Given the description of an element on the screen output the (x, y) to click on. 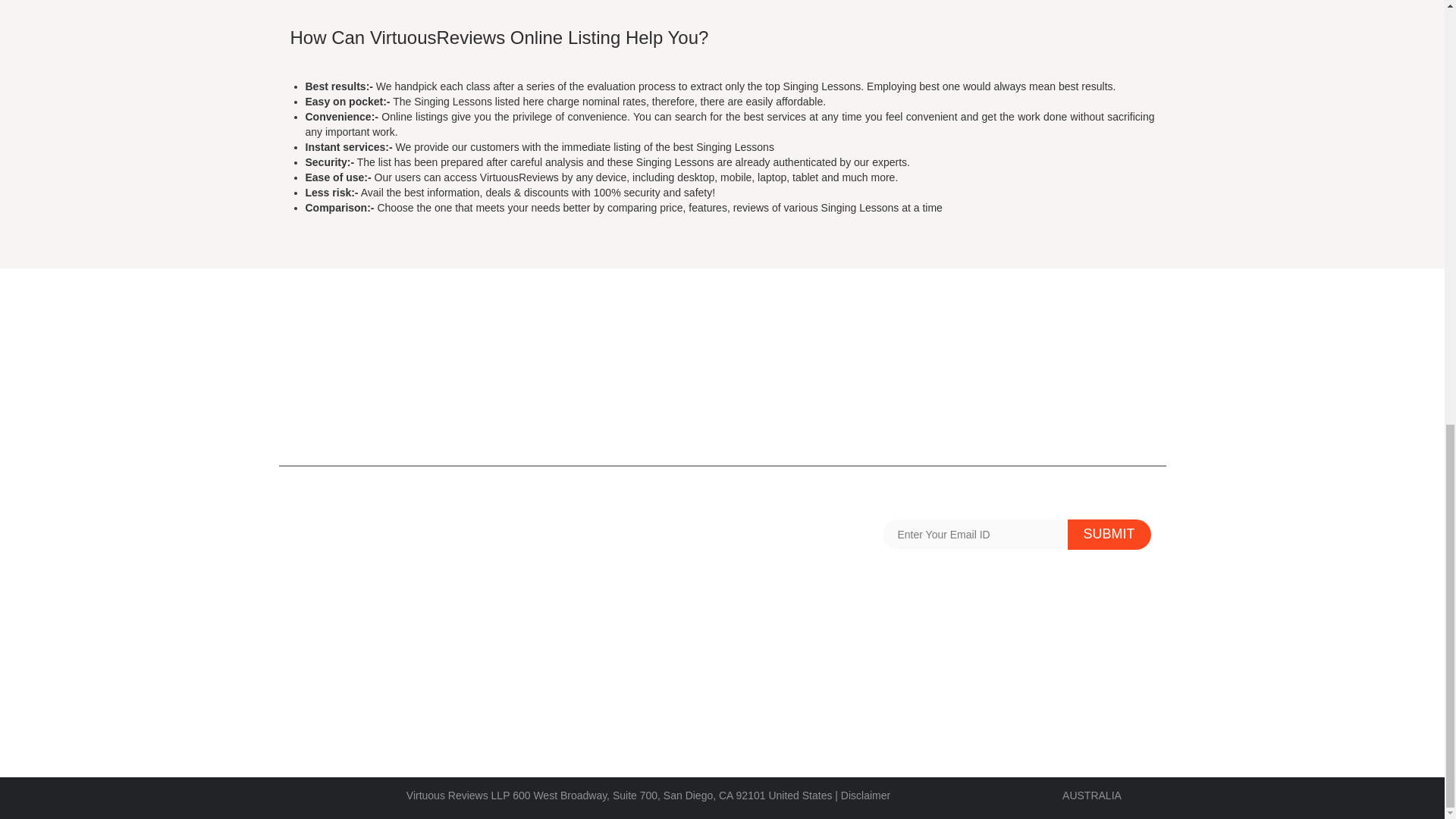
What we do (761, 625)
Who we are (317, 716)
